Given the description of an element on the screen output the (x, y) to click on. 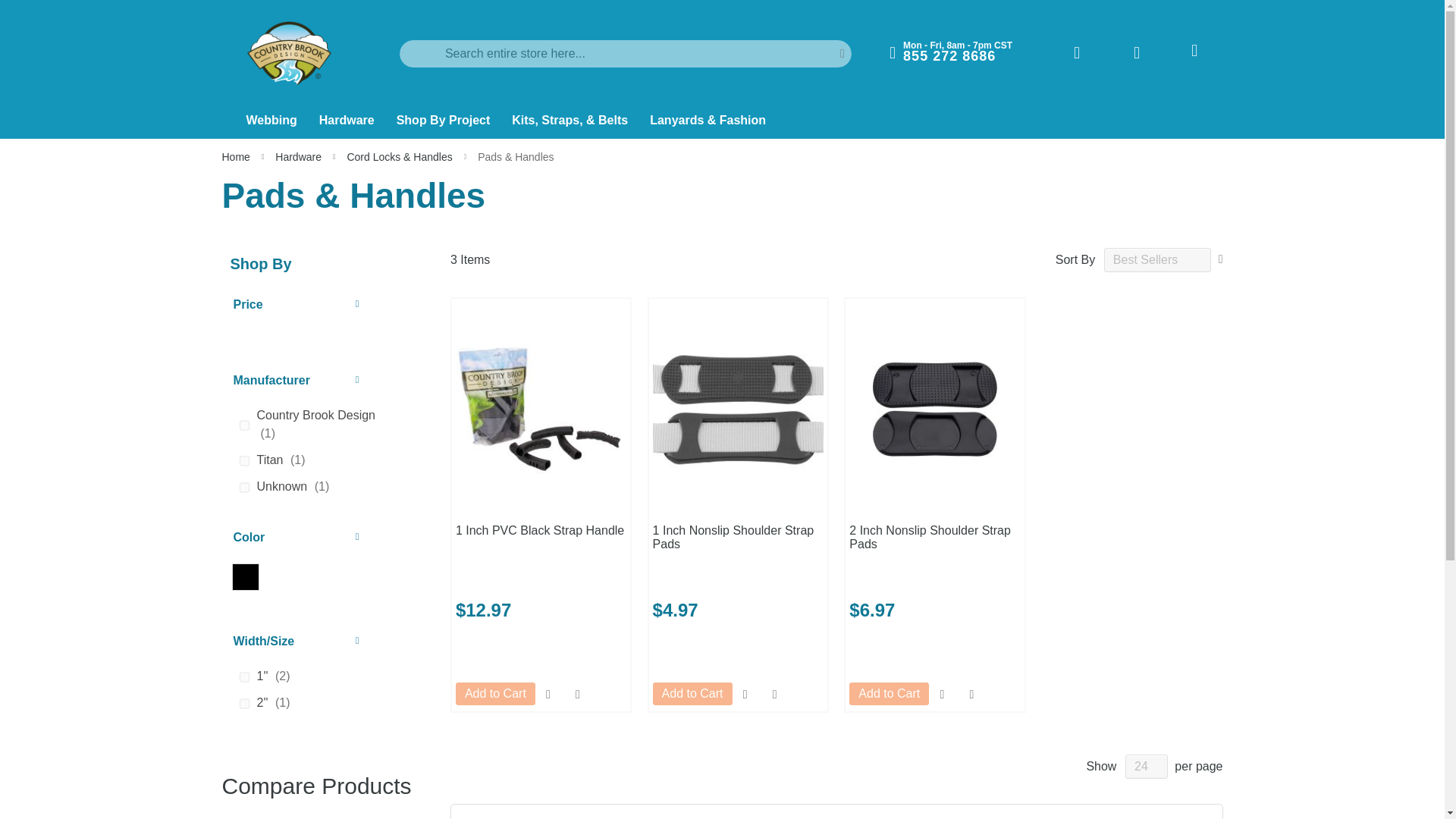
Add to Cart (888, 693)
Add to Wish List (548, 693)
Add to Wish List (941, 693)
Add to Cart (692, 693)
Add to Compare (774, 693)
855 272 8686 (948, 55)
Country Brook Design Logo (289, 53)
Add to Wish List (745, 693)
Add to Compare (577, 693)
Go to Home Page (236, 156)
Hardware (348, 120)
Add to Cart (495, 693)
Add to Compare (971, 693)
Webbing (271, 120)
